Given the description of an element on the screen output the (x, y) to click on. 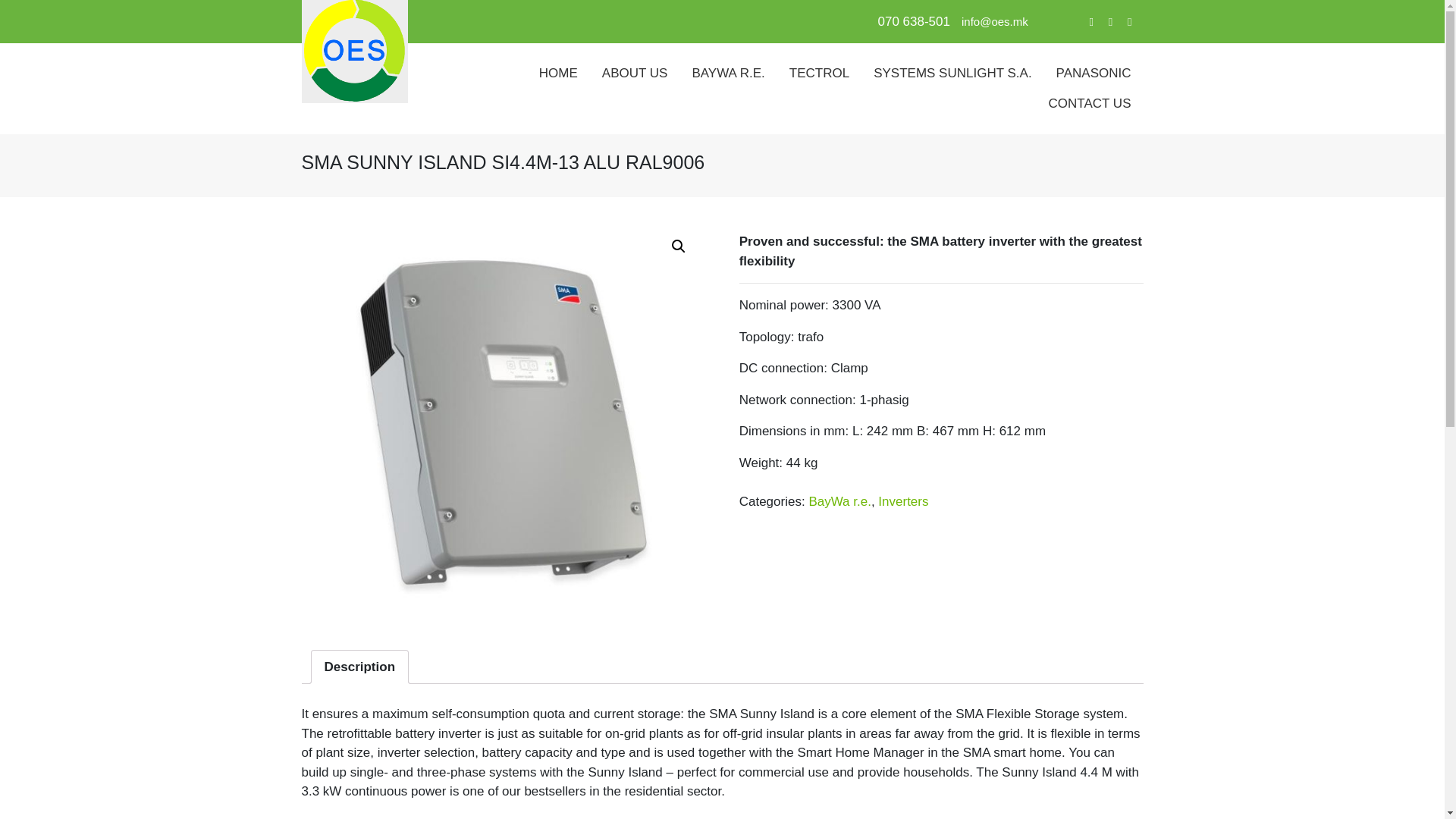
BayWa r.e. (839, 501)
HOME (558, 73)
BAYWA R.E. (727, 73)
CONTACT US (1089, 103)
SYSTEMS SUNLIGHT S.A. (952, 73)
ABOUT US (634, 73)
TECTROL (819, 73)
Inverters (902, 501)
PANASONIC (1092, 73)
Description (360, 666)
